Given the description of an element on the screen output the (x, y) to click on. 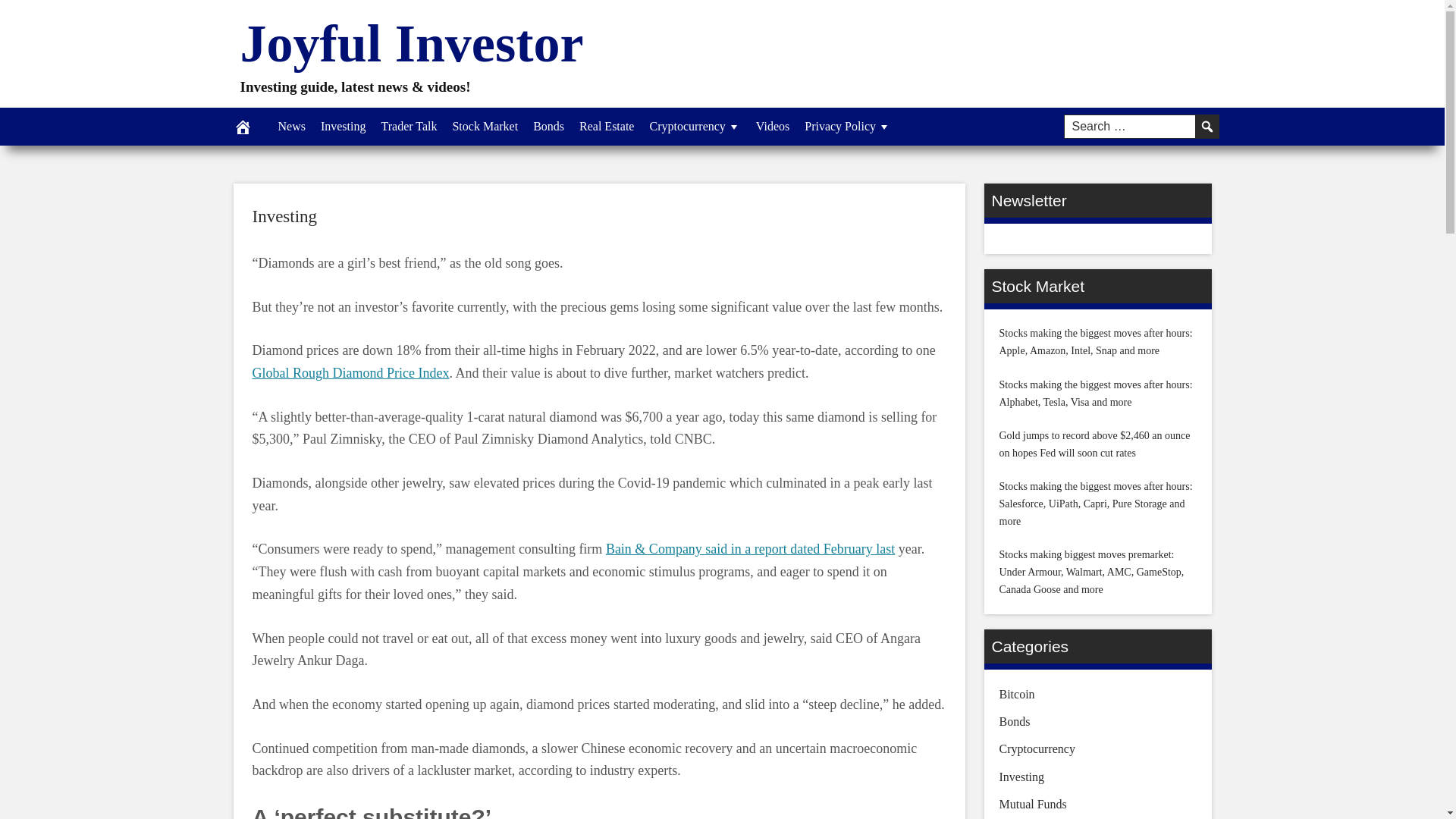
Joyful Investor (411, 43)
Global Rough Diamond Price Index (349, 372)
Investing (284, 216)
Stock Market (484, 126)
Trader Talk (408, 126)
Real Estate (607, 126)
Bonds (548, 126)
Investing (284, 216)
Investing (343, 126)
Privacy Policy (847, 126)
Cryptocurrency (695, 126)
Videos (772, 126)
News (291, 126)
